Given the description of an element on the screen output the (x, y) to click on. 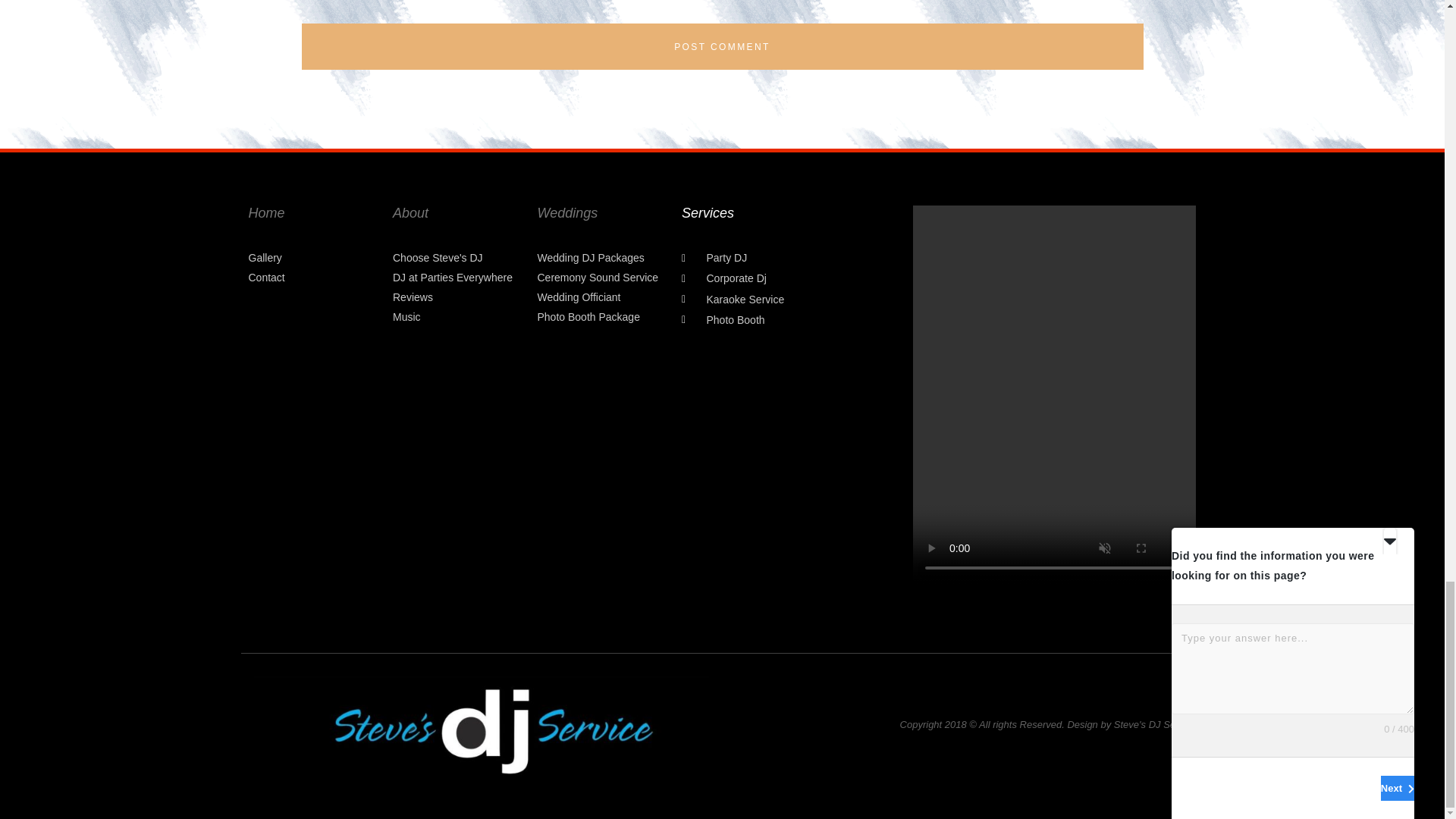
Post Comment (721, 46)
